Given the description of an element on the screen output the (x, y) to click on. 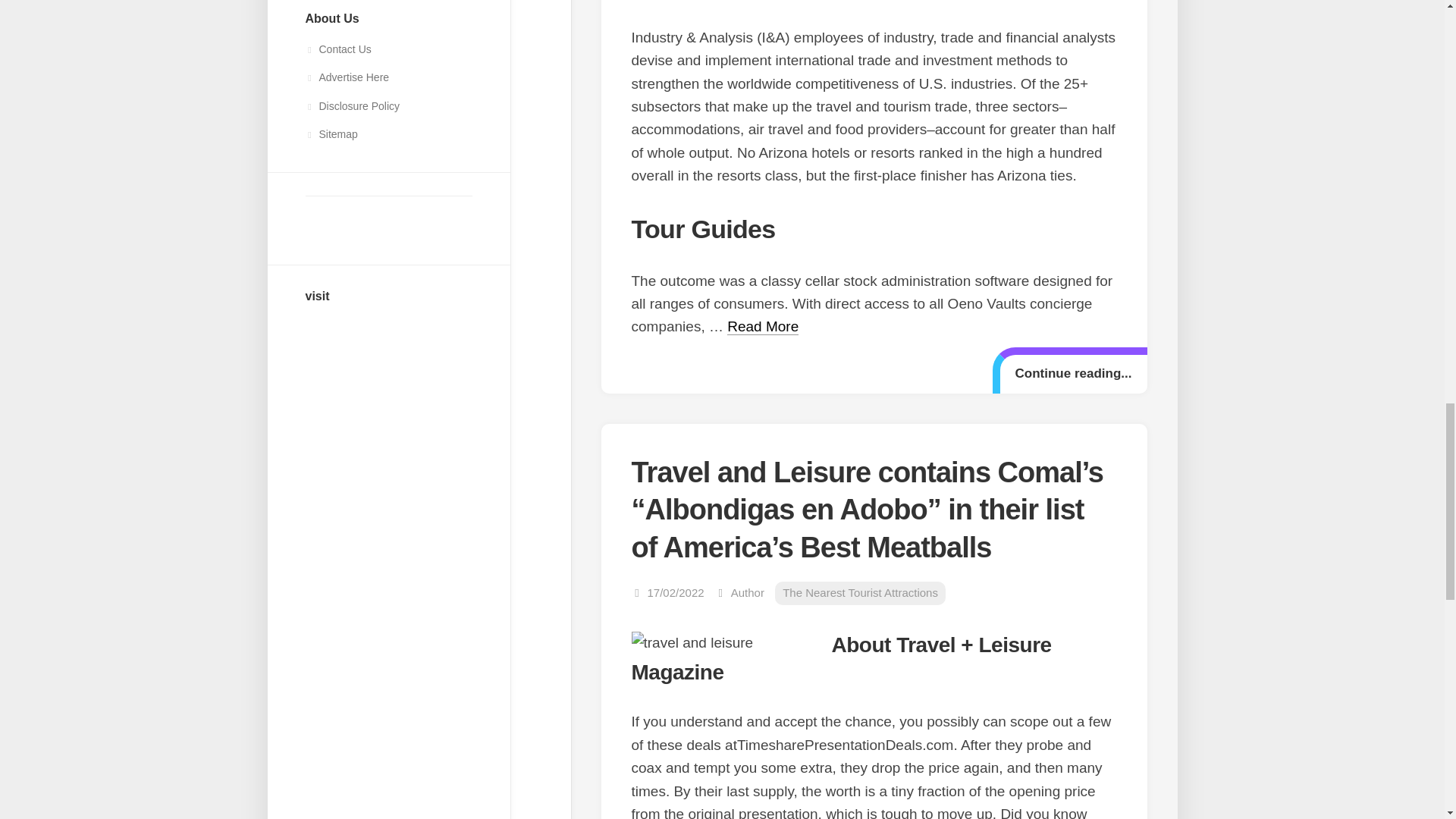
Posts by Author (747, 592)
